Given the description of an element on the screen output the (x, y) to click on. 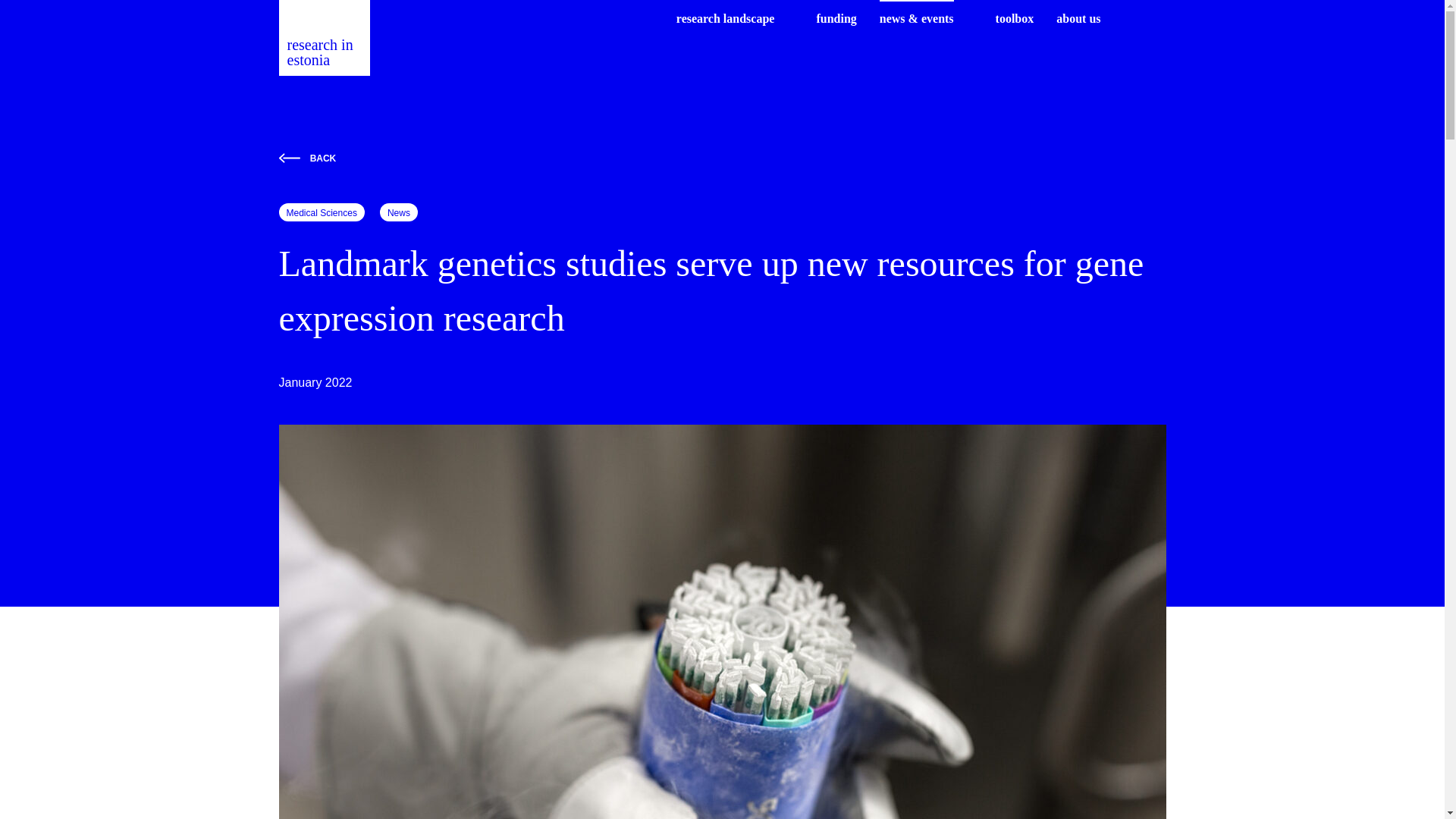
research in estonia (324, 38)
about us (1078, 18)
Medical Sciences (322, 212)
toolbox (1014, 18)
News (398, 212)
BACK (722, 158)
research landscape (725, 18)
funding (835, 18)
